Given the description of an element on the screen output the (x, y) to click on. 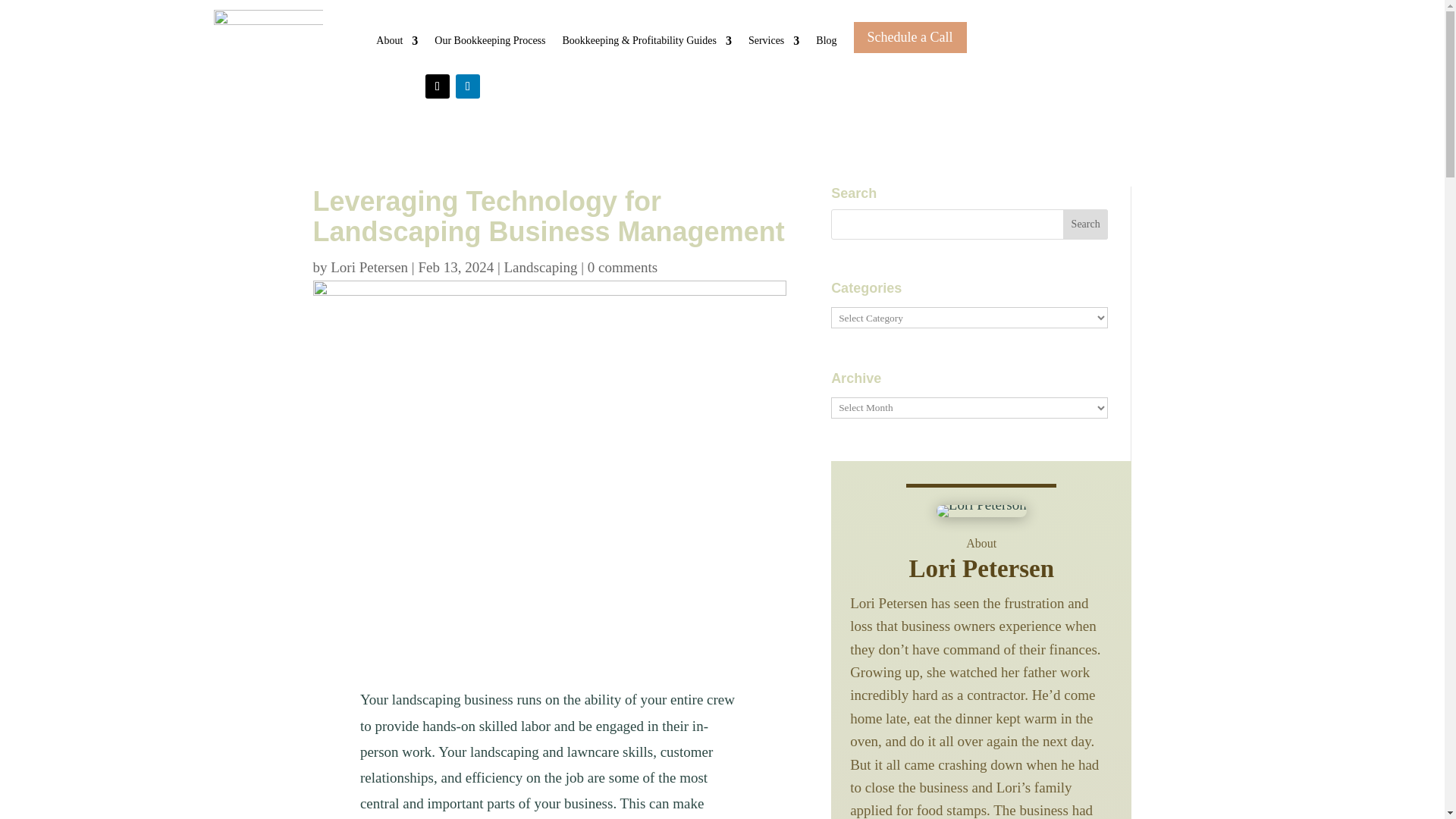
Services (773, 51)
Follow on Instagram (437, 86)
034 (981, 510)
Follow on LinkedIn (467, 86)
About (396, 51)
Search (1085, 224)
Schedule a Call (909, 36)
Our Bookkeeping Process (488, 51)
Lori Petersen (368, 267)
Landscaping (539, 267)
Posts by Lori Petersen (368, 267)
Search (1085, 224)
0 comments (623, 267)
logo-02 (268, 35)
